Given the description of an element on the screen output the (x, y) to click on. 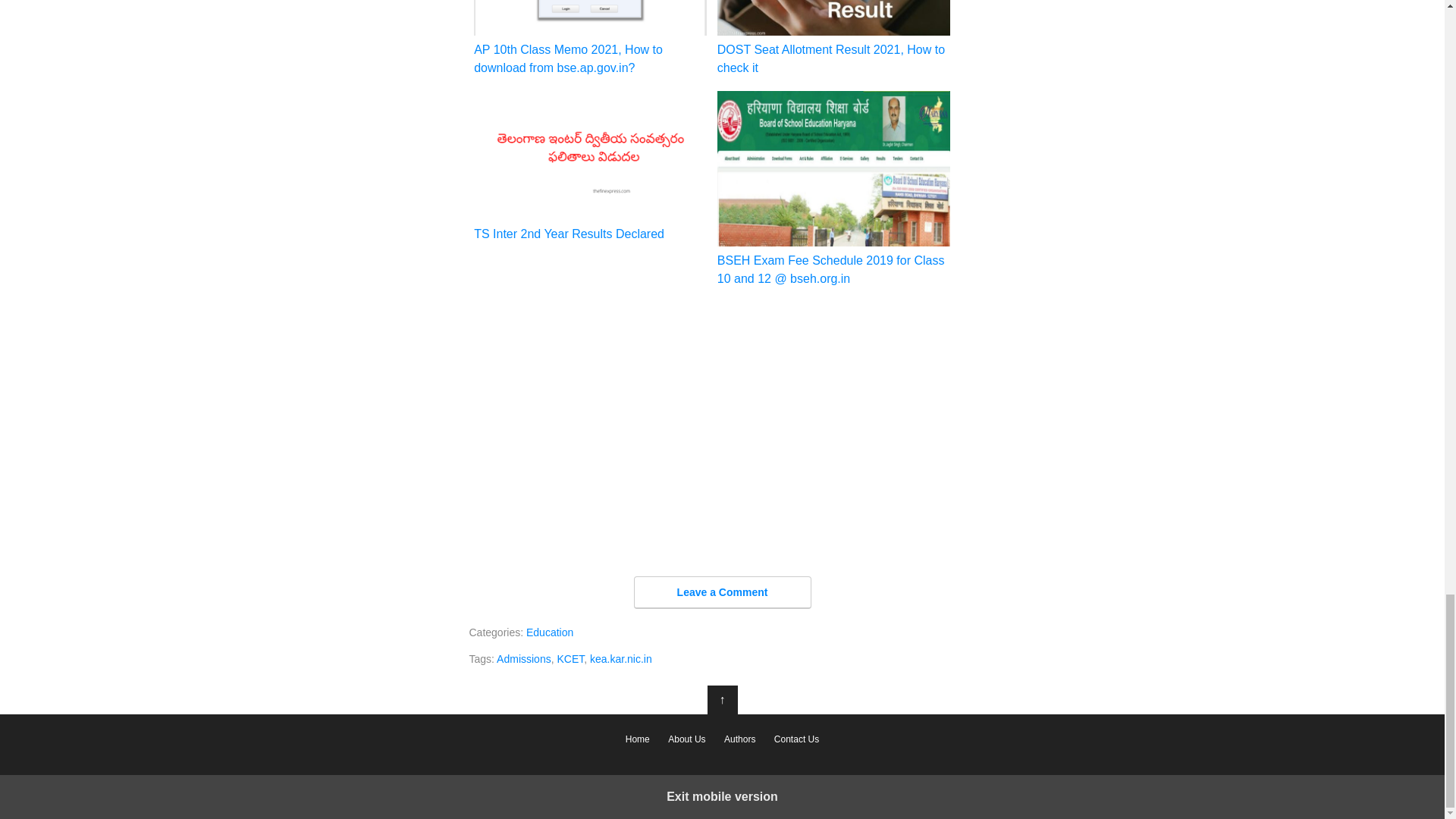
kea.kar.nic.in (620, 658)
About Us (687, 738)
Contact Us (797, 738)
Authors (739, 738)
Leave a Comment (721, 592)
KCET (569, 658)
Education (549, 632)
TS Inter 2nd Year Results Declared (590, 166)
Admissions (523, 658)
DOST Seat Allotment Result 2021, How to check it (833, 38)
Home (637, 738)
AP 10th Class Memo 2021, How to download from bse.ap.gov.in? (590, 38)
